Given the description of an element on the screen output the (x, y) to click on. 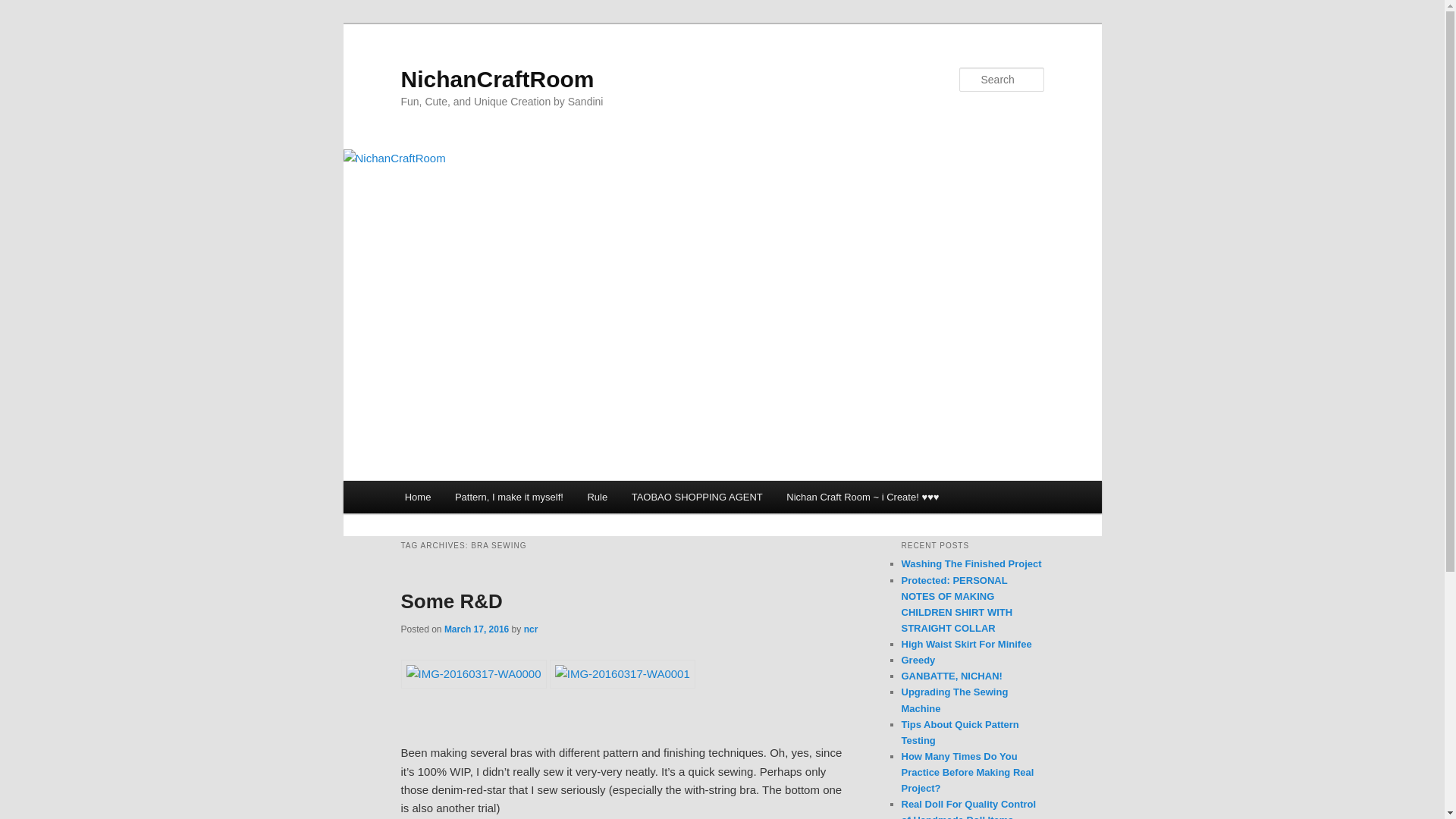
NichanCraftRoom (497, 78)
Real Doll For Quality Control of Handmade Doll Items (968, 808)
How Many Times Do You Practice Before Making Real Project? (967, 772)
TAOBAO SHOPPING AGENT (697, 496)
View all posts by ncr (531, 629)
ncr (531, 629)
8:52 am (476, 629)
Rule (597, 496)
Upgrading The Sewing Machine (954, 699)
